Given the description of an element on the screen output the (x, y) to click on. 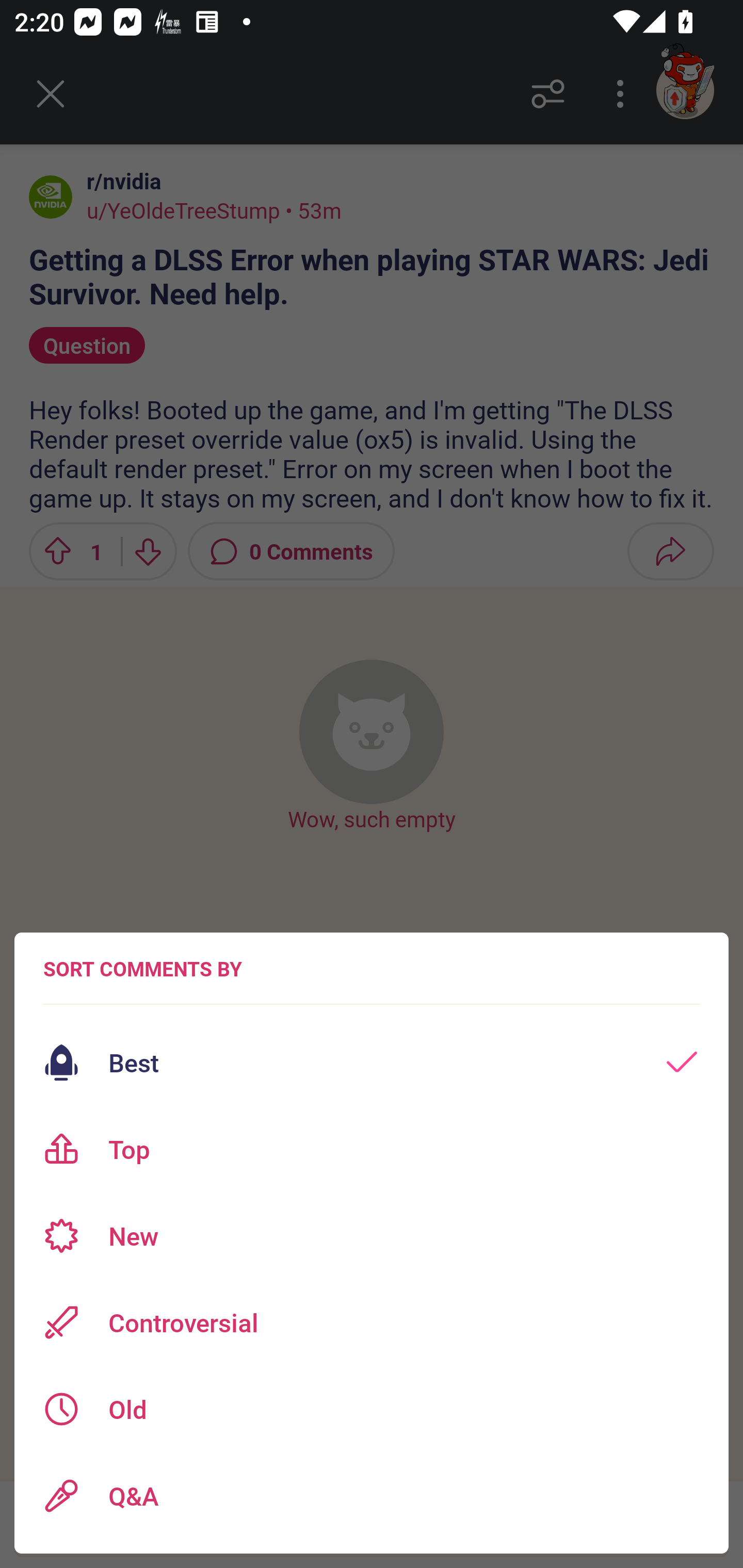
SORT COMMENTS BY Sort comments options (142, 968)
Best (371, 1062)
Top (371, 1149)
New (371, 1236)
Controversial (371, 1322)
Old (371, 1408)
Q&A (371, 1495)
